Given the description of an element on the screen output the (x, y) to click on. 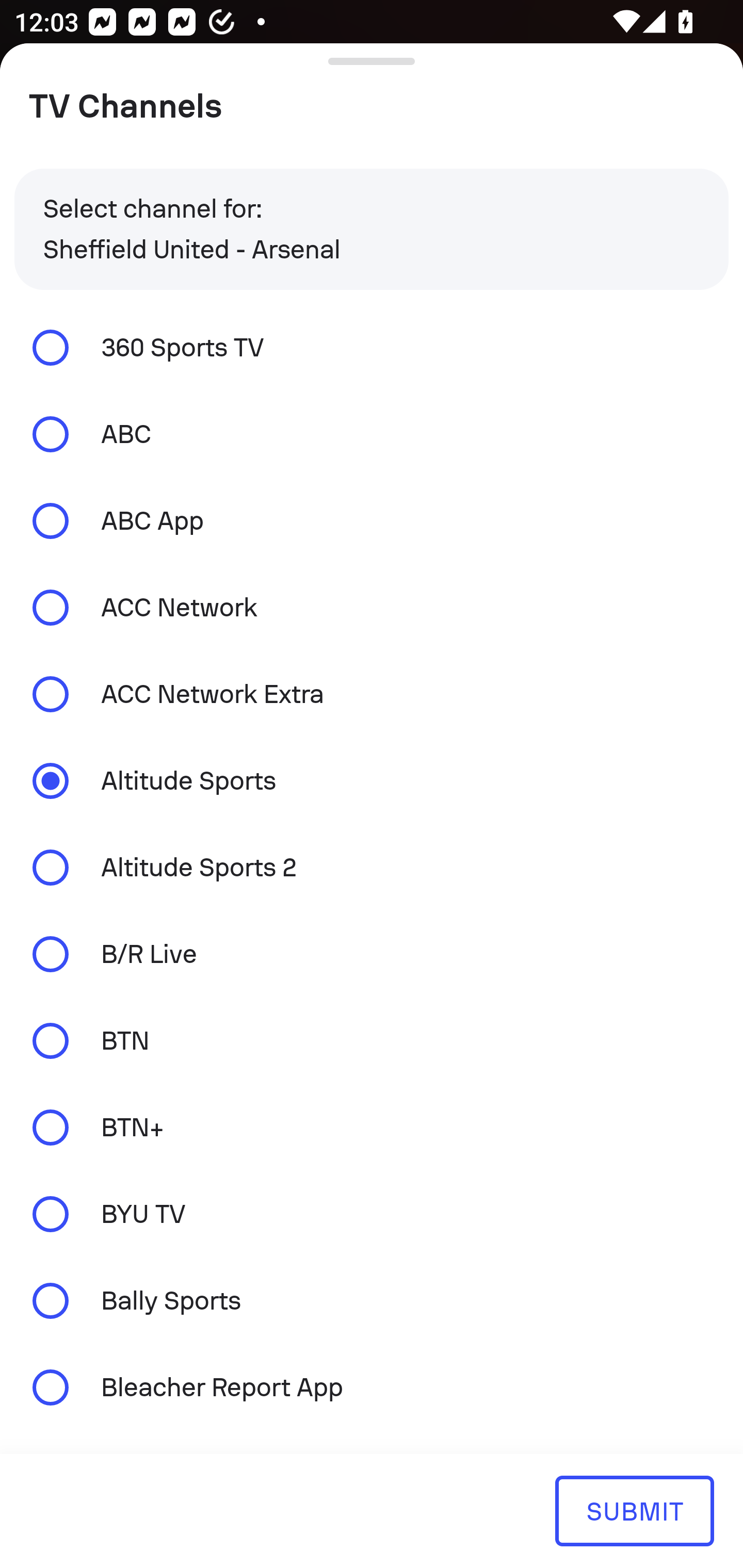
360 Sports TV (371, 347)
ABC (371, 434)
ABC App (371, 521)
ACC Network (371, 607)
ACC Network Extra (371, 693)
Altitude Sports (371, 780)
Altitude Sports 2 (371, 867)
B/R Live (371, 954)
BTN (371, 1040)
BTN+ (371, 1127)
BYU TV (371, 1214)
Bally Sports (371, 1300)
Bleacher Report App (371, 1386)
SUBMIT (634, 1510)
